Given the description of an element on the screen output the (x, y) to click on. 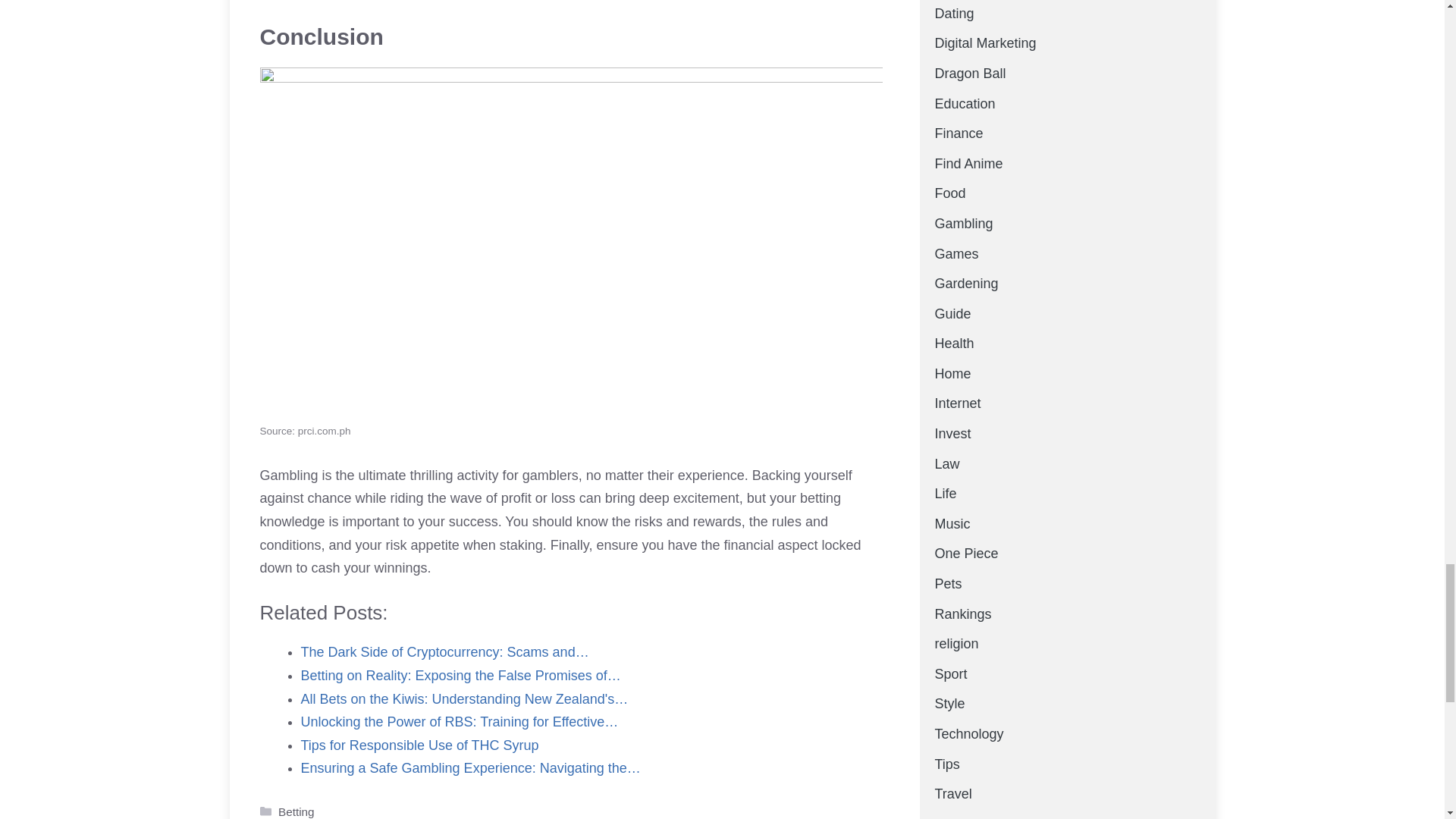
Tips for Responsible Use of THC Syrup (418, 744)
Betting (296, 811)
